Given the description of an element on the screen output the (x, y) to click on. 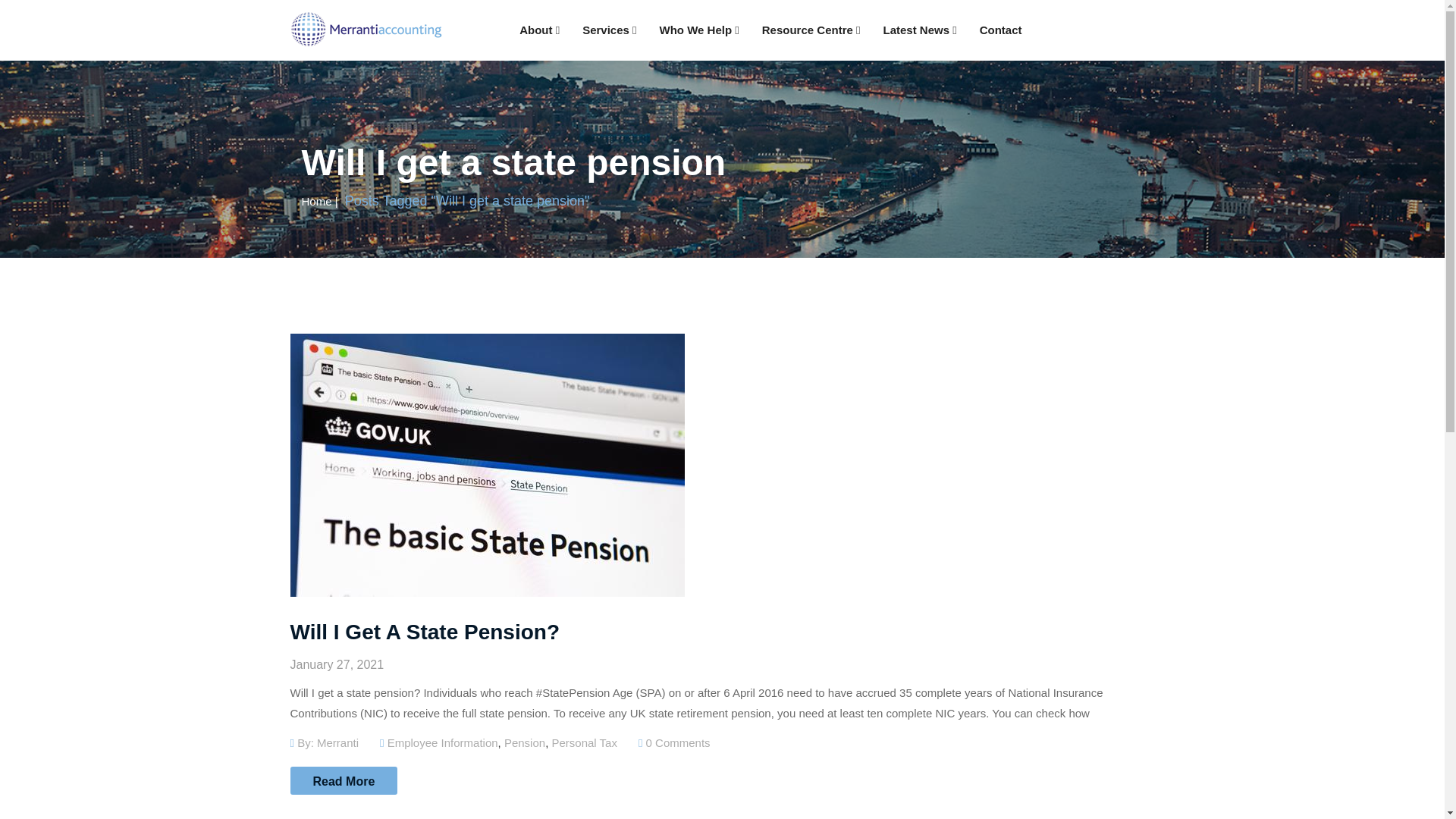
About (539, 30)
Who We Help (699, 30)
About (539, 30)
Awesome Logo (365, 29)
Services (608, 30)
Services (608, 30)
Resource Centre (811, 30)
